Given the description of an element on the screen output the (x, y) to click on. 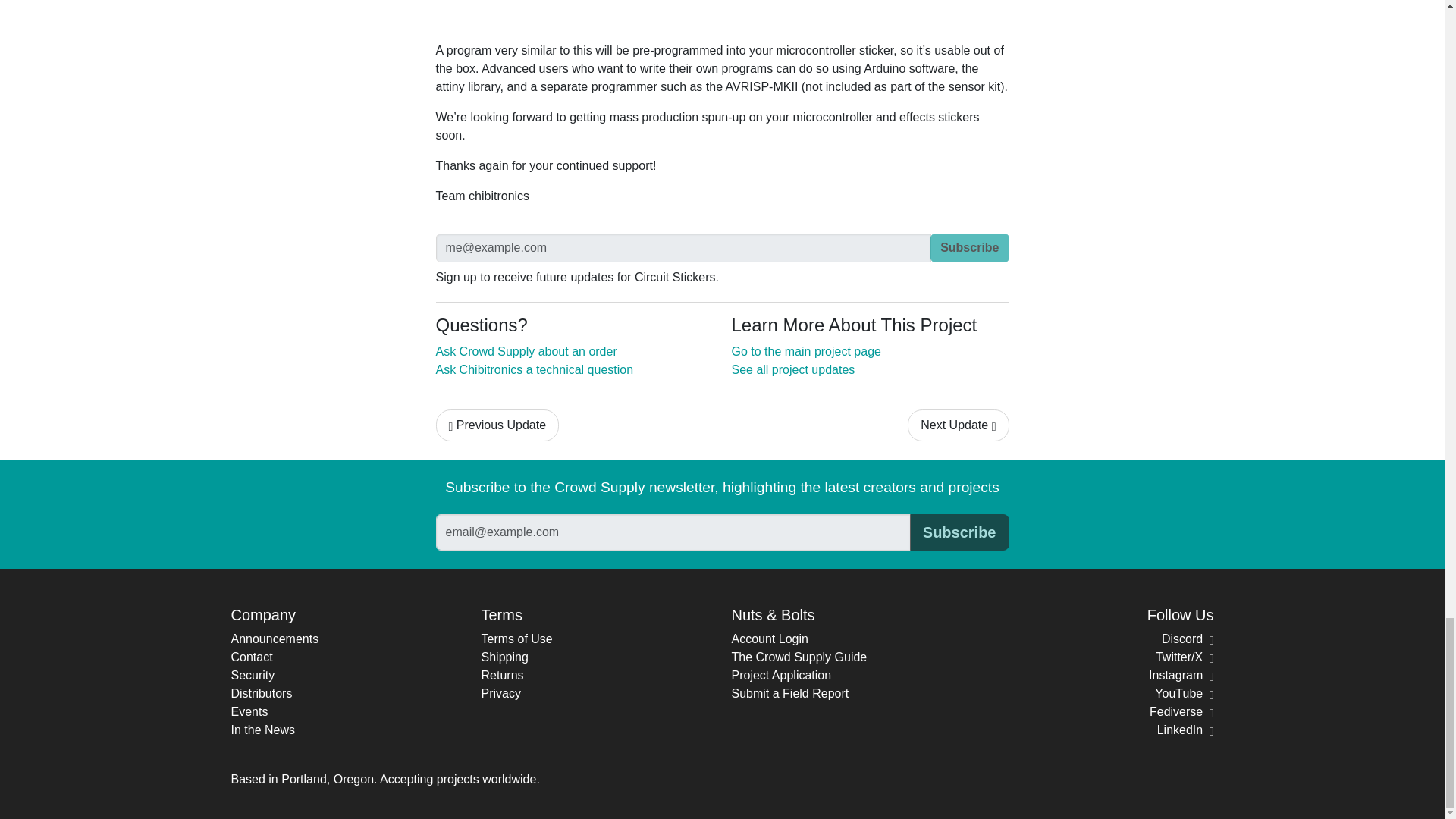
Submit a Field Report (789, 693)
Security (252, 675)
Ask Crowd Supply about an order (525, 350)
Project Application (780, 675)
Subscribe (959, 532)
Events (248, 711)
The Crowd Supply Guide (798, 656)
Shipping (503, 656)
Contact (251, 656)
Terms of Use (515, 638)
